Given the description of an element on the screen output the (x, y) to click on. 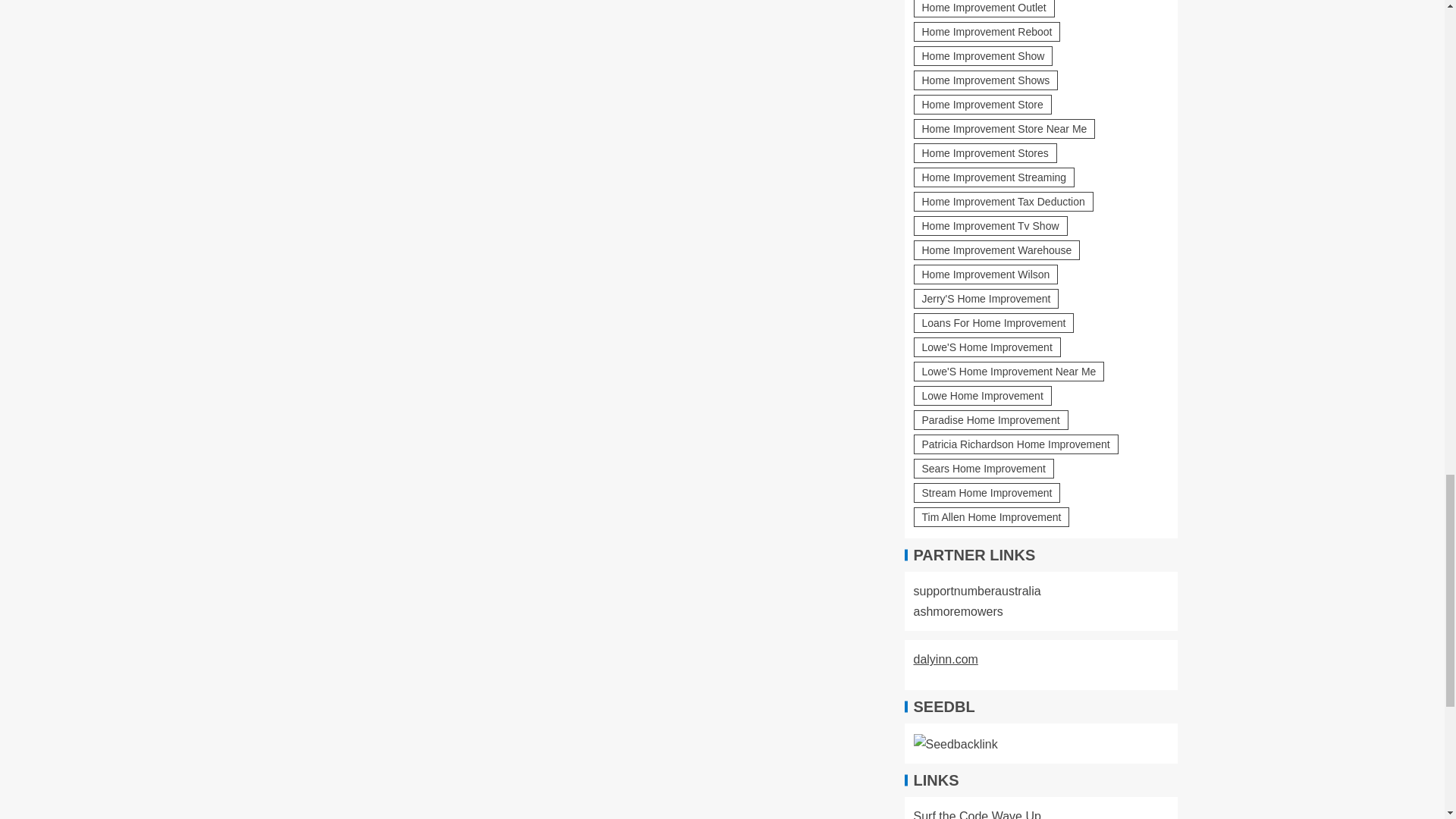
Seedbacklink (954, 743)
